Given the description of an element on the screen output the (x, y) to click on. 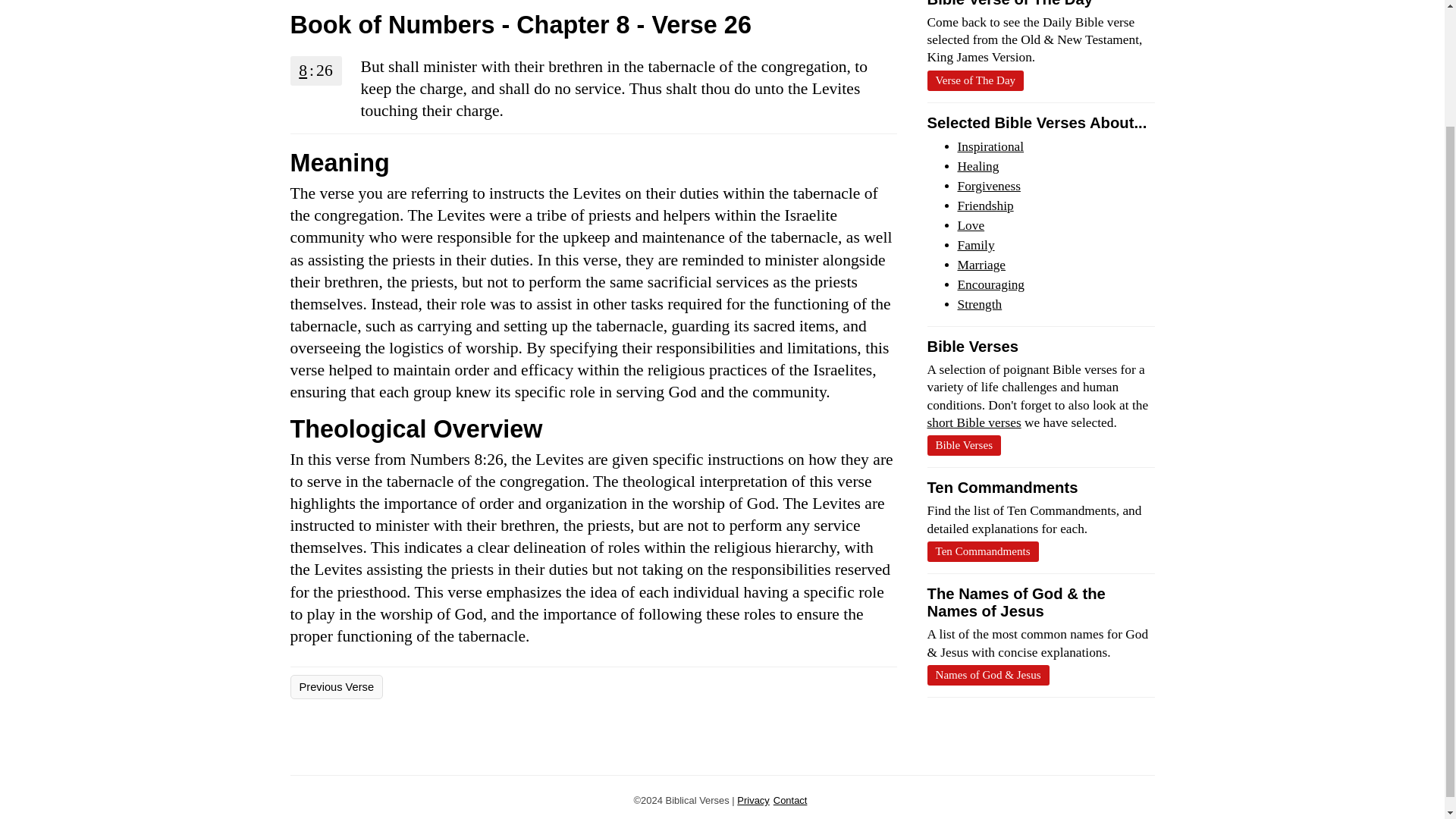
Friendship (984, 205)
Love (970, 225)
Contact (790, 799)
Healing (977, 165)
Strength (978, 304)
Family (975, 245)
Bible Verses (963, 444)
Inspirational (989, 146)
Marriage (981, 264)
short Bible verses (973, 422)
Ten Commandments (982, 551)
Verse of The Day (974, 80)
Privacy (752, 799)
Forgiveness (988, 186)
Encouraging (990, 284)
